Given the description of an element on the screen output the (x, y) to click on. 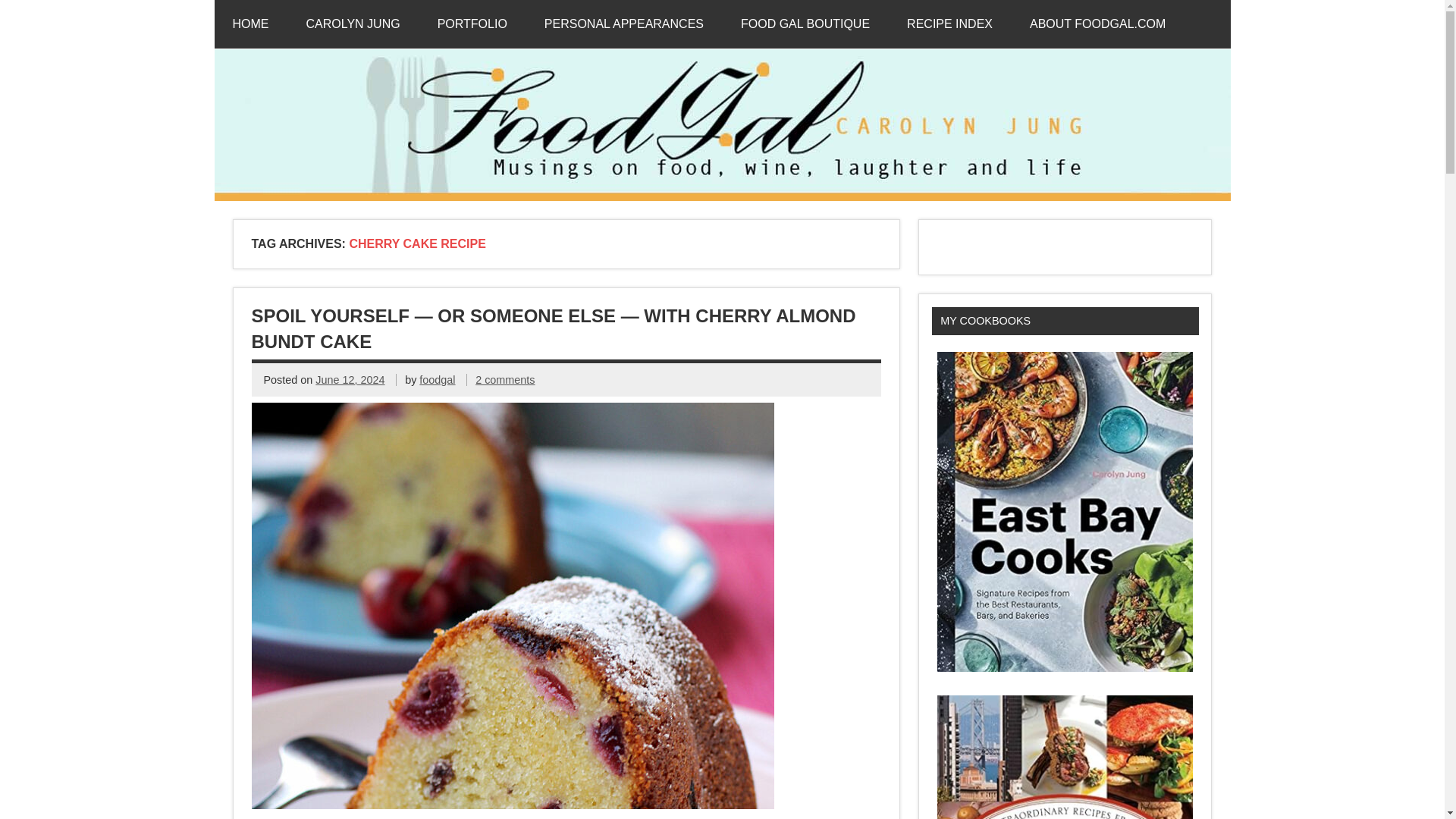
5:27 am (349, 379)
ABOUT FOODGAL.COM (1097, 24)
June 12, 2024 (349, 379)
HOME (250, 24)
2 comments (505, 379)
PORTFOLIO (472, 24)
View all posts by foodgal (436, 379)
CAROLYN JUNG (353, 24)
RECIPE INDEX (949, 24)
PERSONAL APPEARANCES (623, 24)
